Given the description of an element on the screen output the (x, y) to click on. 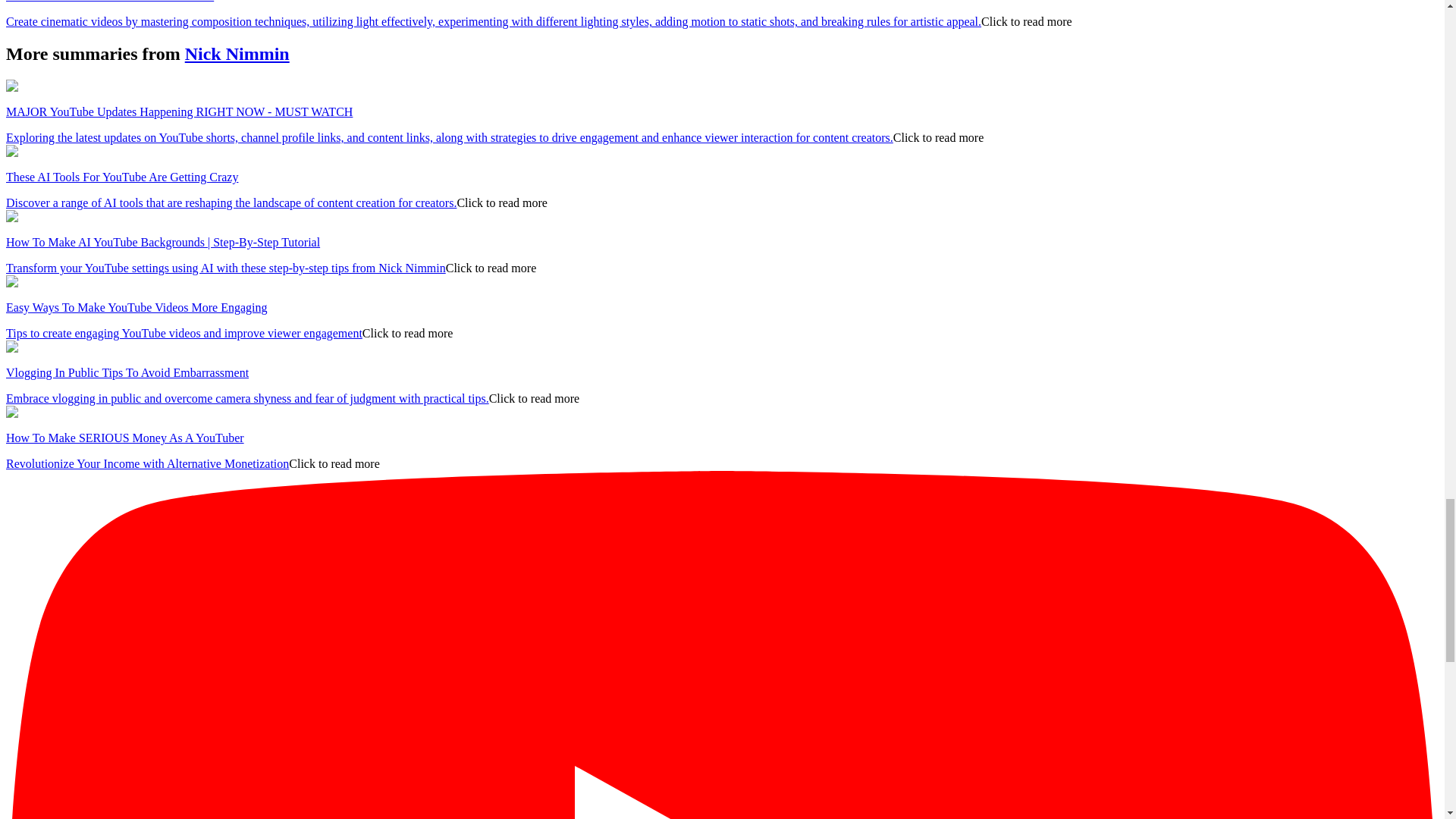
Nick Nimmin (236, 53)
Vlogging In Public Tips To Avoid Embarrassment (126, 372)
MAJOR YouTube Updates Happening RIGHT NOW - MUST WATCH (178, 111)
How To Make SERIOUS Money As A YouTuber (124, 437)
Easy Ways To Make YouTube Videos More Engaging (135, 307)
Revolutionize Your Income with Alternative Monetization (146, 463)
How to Film Yourself and Look Cinematic (109, 1)
These AI Tools For YouTube Are Getting Crazy (121, 176)
